Given the description of an element on the screen output the (x, y) to click on. 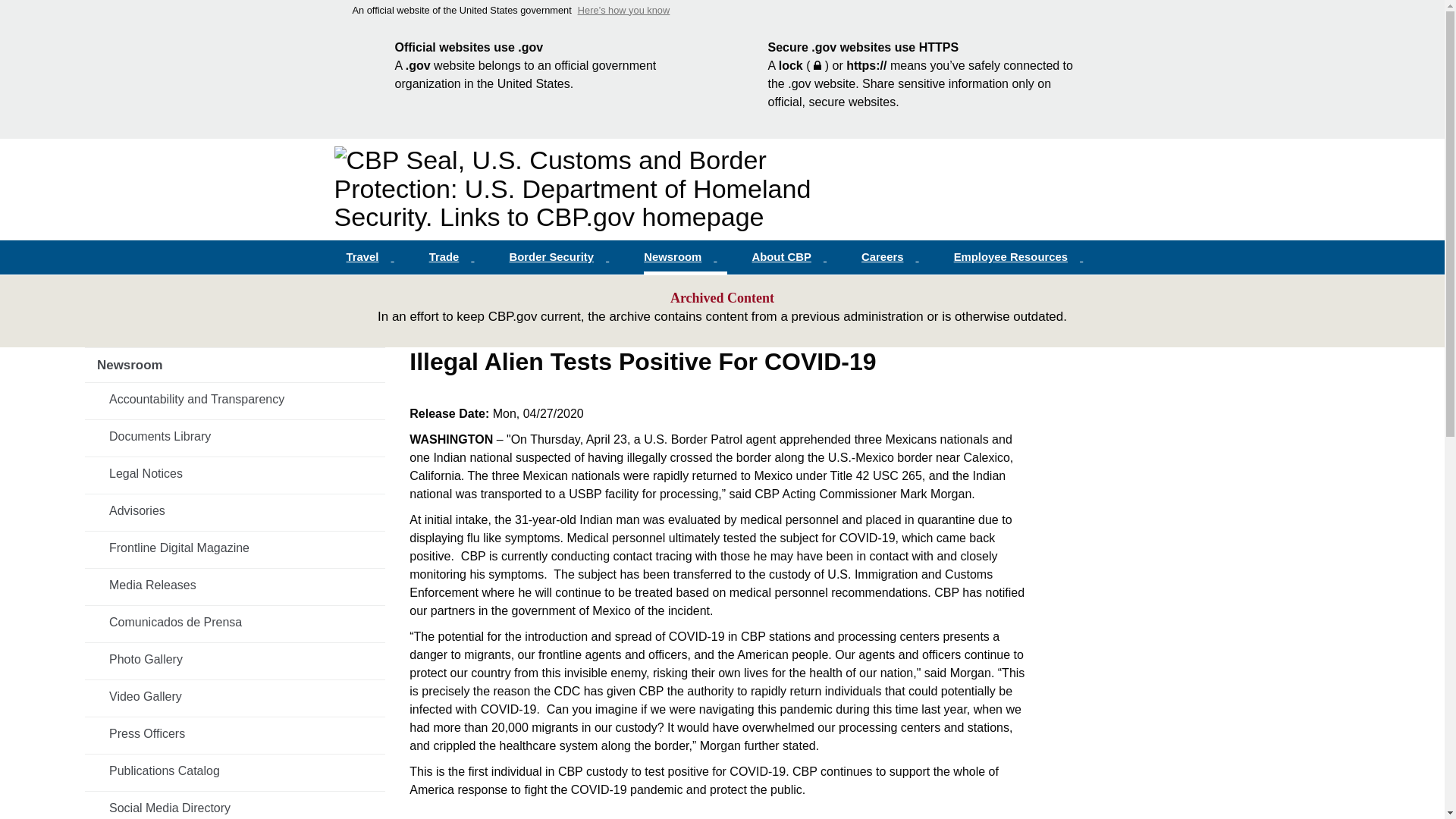
Travel (374, 257)
About CBP (793, 257)
Media Releases (234, 584)
Video Gallery (234, 696)
Careers (895, 257)
Accountability and Transparency (234, 399)
Documents Library (234, 436)
Publications Catalog (234, 770)
Newsroom (685, 257)
Newsroom (234, 365)
Frontline Digital Magazine (234, 548)
Employee Resources (1024, 257)
Border Security (563, 257)
Trade (456, 257)
Press Officers (234, 734)
